Given the description of an element on the screen output the (x, y) to click on. 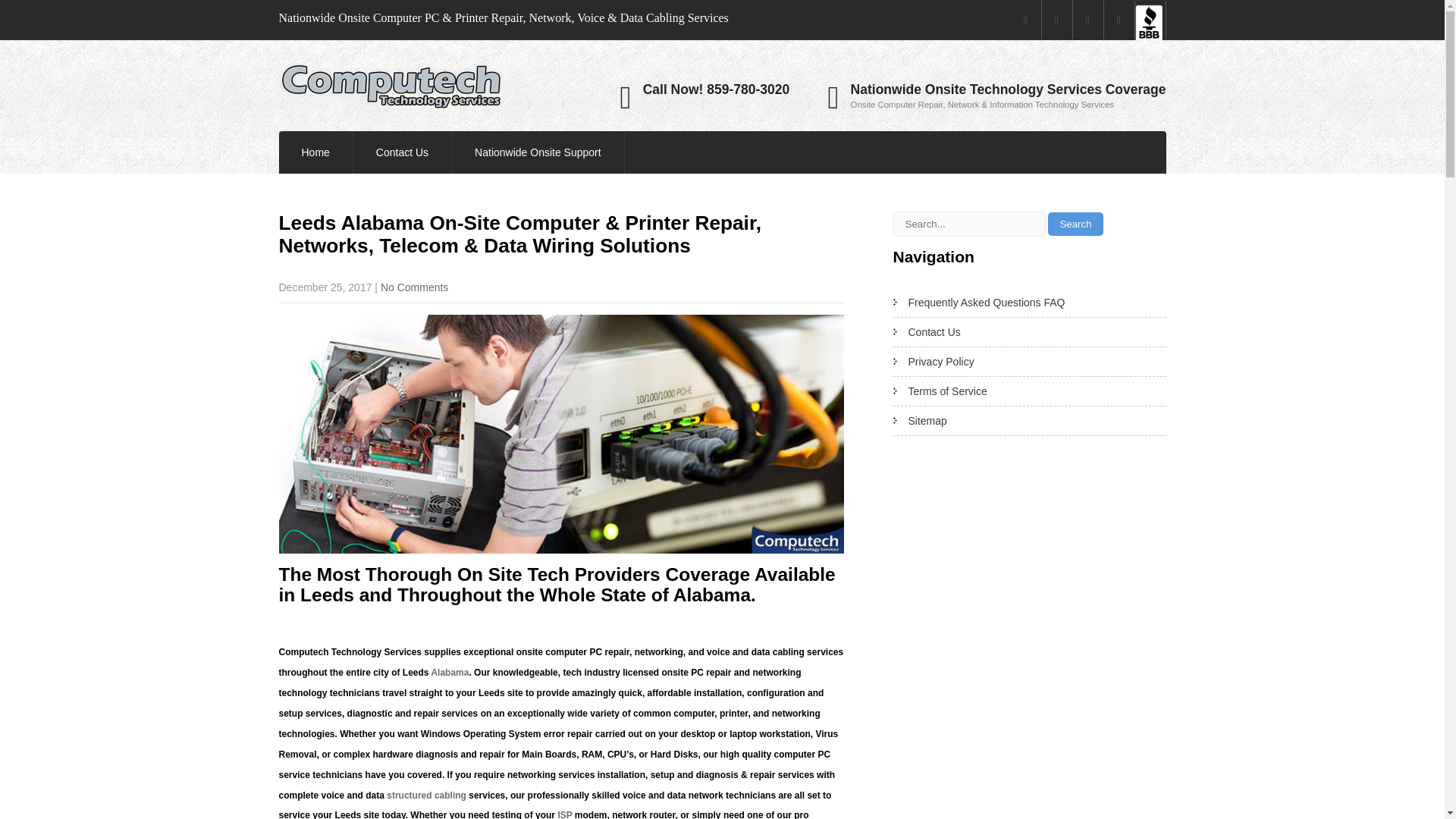
Nationwide Onsite Support (537, 152)
Alabama (449, 672)
Search (1075, 223)
structured cabling (426, 795)
Contact Us (402, 152)
ISP (564, 814)
Search (1075, 223)
No Comments (414, 287)
Home (315, 152)
